Given the description of an element on the screen output the (x, y) to click on. 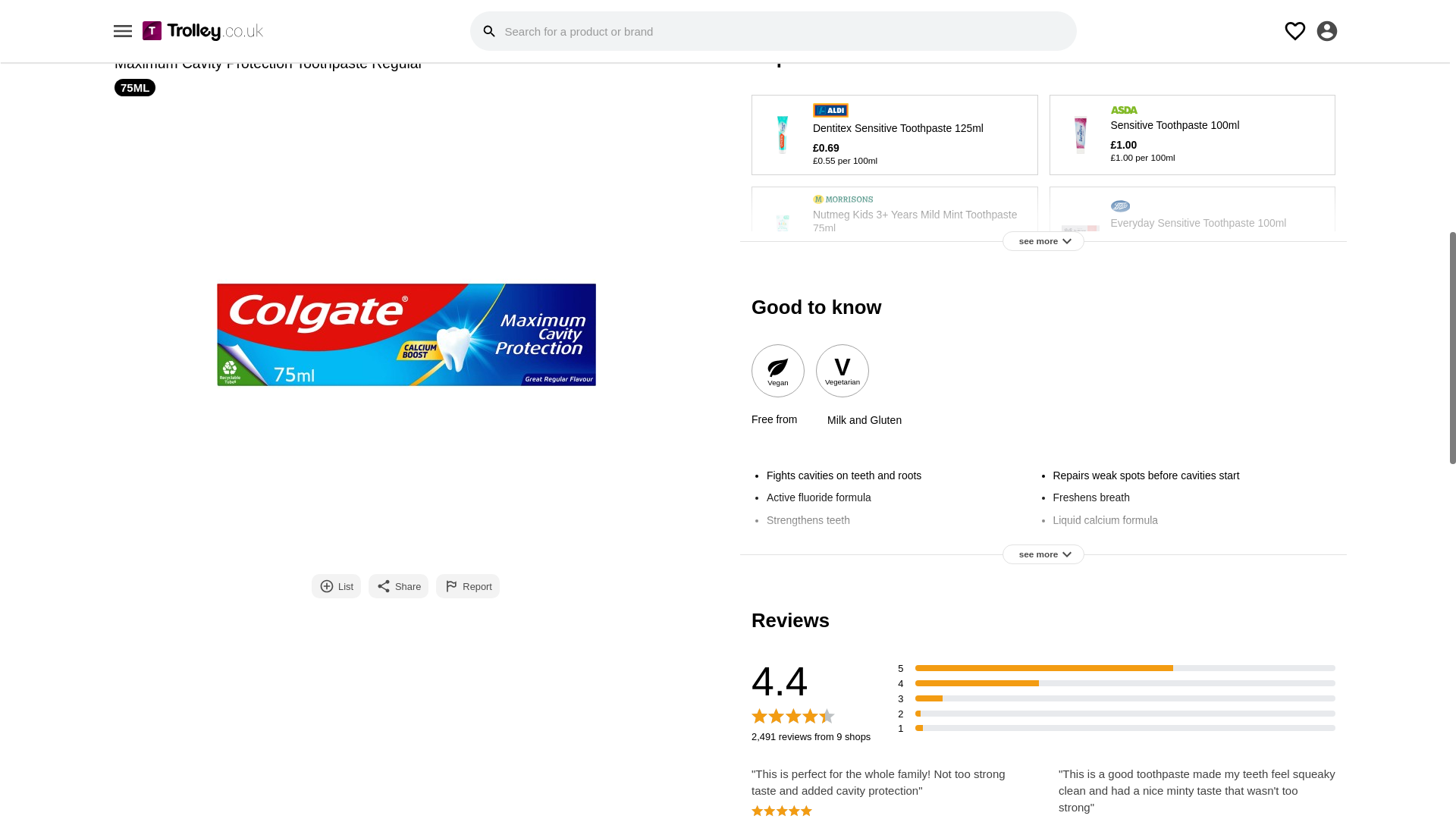
Everyday Sensitive Toothpaste 100ml (1192, 230)
